Given the description of an element on the screen output the (x, y) to click on. 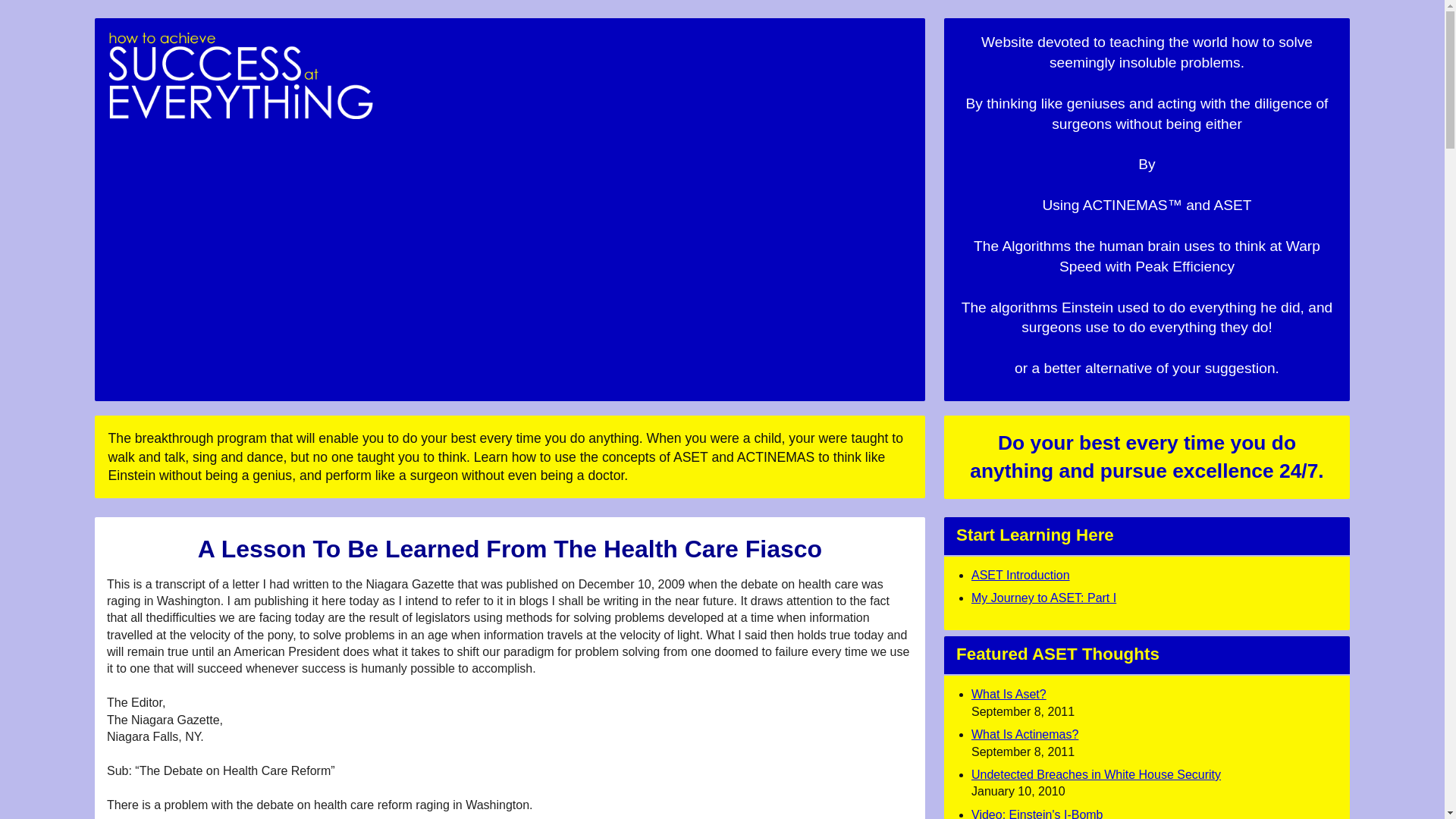
ASET Introduction (1020, 574)
My Journey to ASET: Part I (1043, 597)
Video: Einstein's I-Bomb (1037, 813)
What Is Aset? (1008, 694)
Undetected Breaches in White House Security (1096, 774)
What Is Actinemas? (1024, 734)
